Given the description of an element on the screen output the (x, y) to click on. 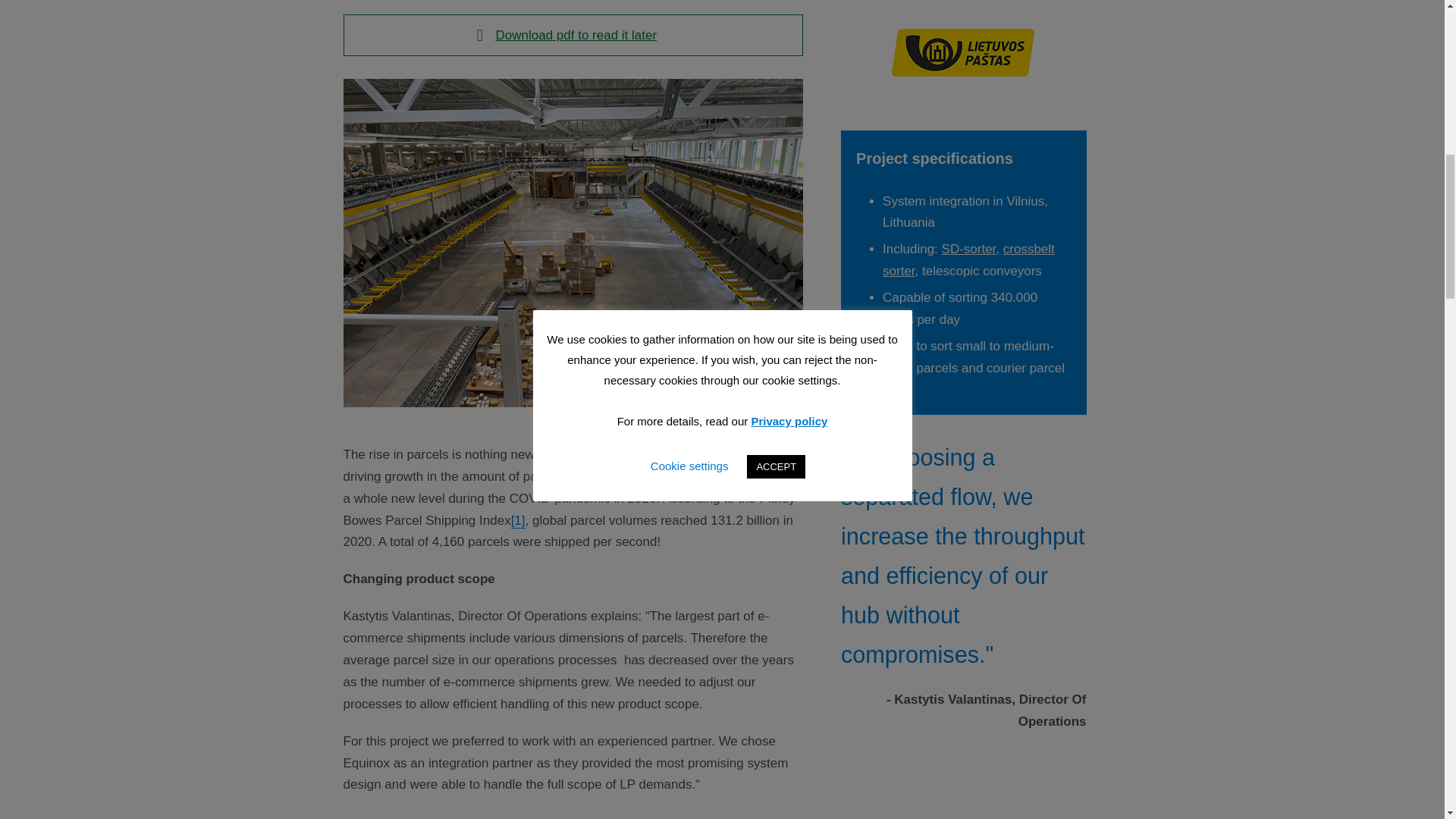
Download pdf to read it later (573, 35)
SD-sorter under construction (963, 65)
